Given the description of an element on the screen output the (x, y) to click on. 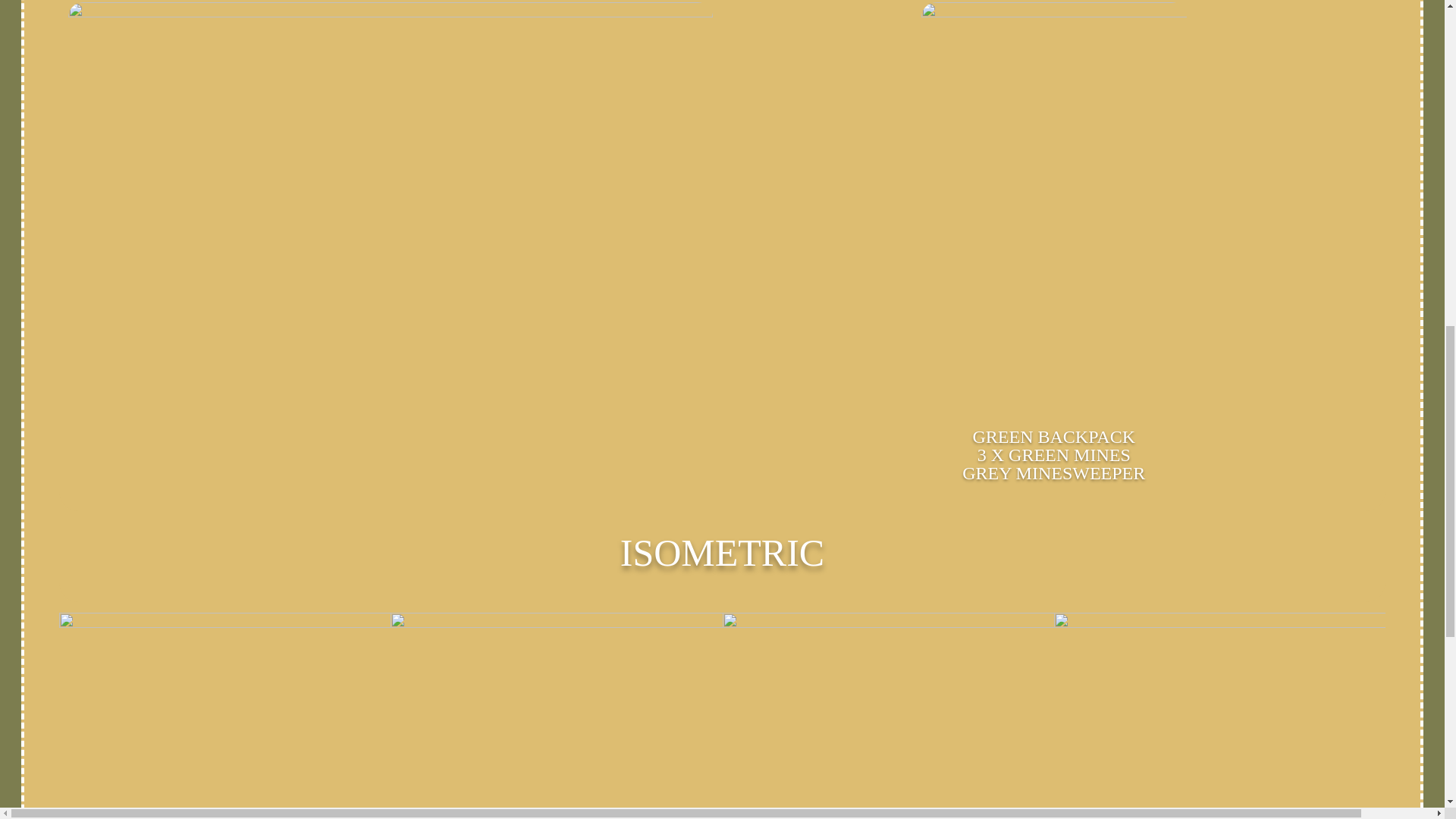
tripwire-acc (1053, 205)
